Given the description of an element on the screen output the (x, y) to click on. 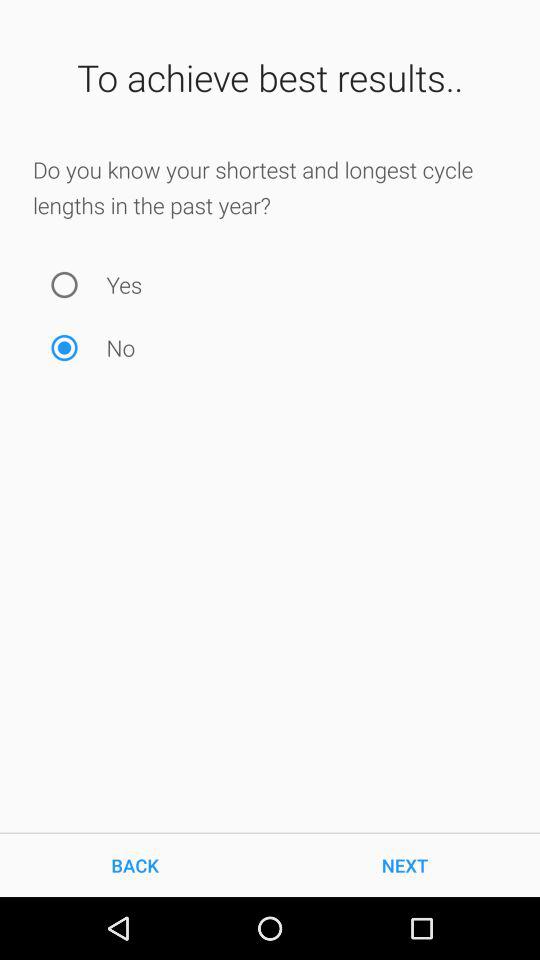
no toggle option (64, 347)
